Given the description of an element on the screen output the (x, y) to click on. 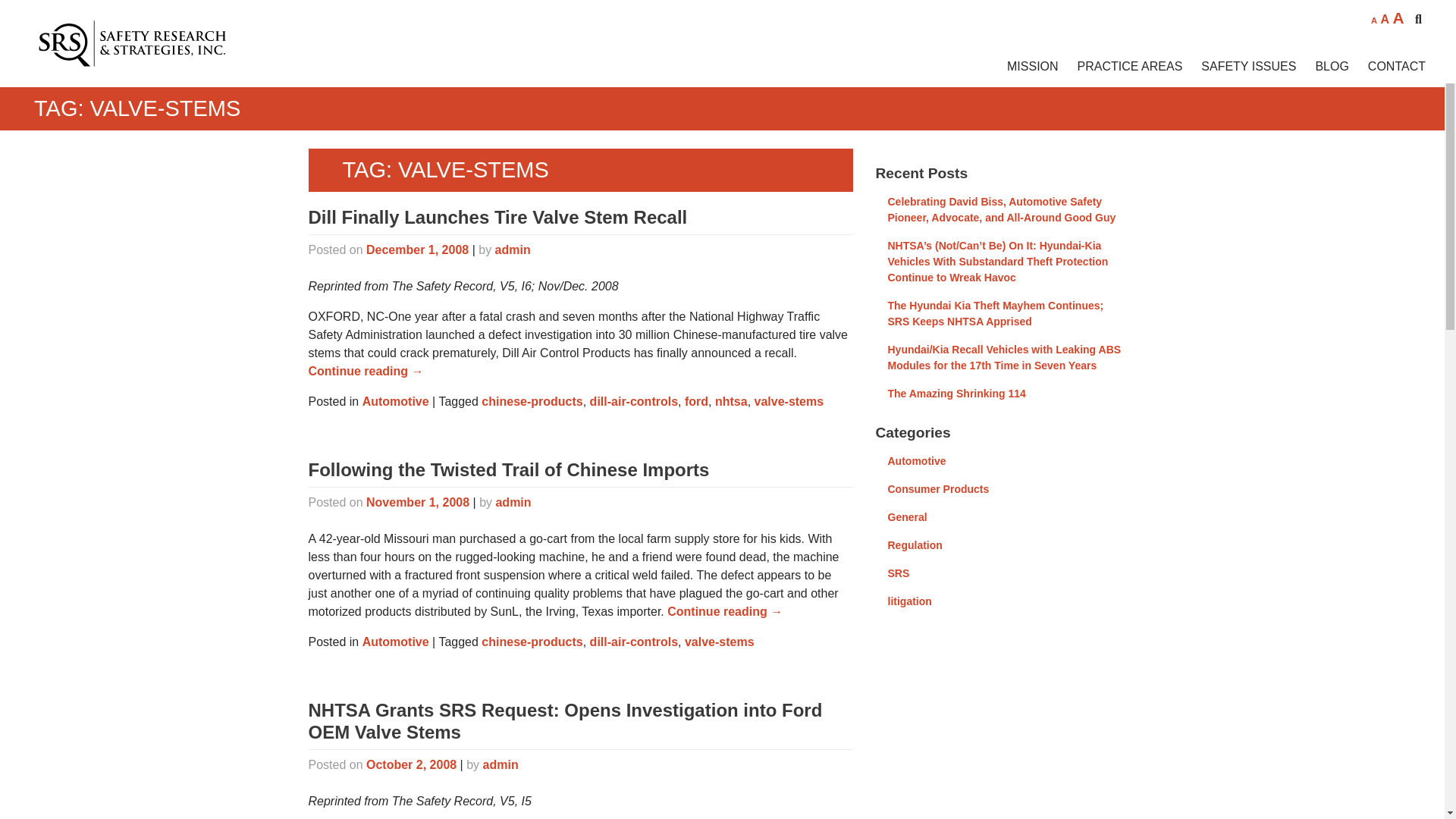
SAFETY ISSUES (1238, 66)
valve-stems (789, 400)
CONTACT (1387, 66)
ford (695, 400)
Dill Finally Launches Tire Valve Stem Recall (497, 217)
PRACTICE AREAS (1120, 66)
chinese-products (531, 400)
admin (513, 249)
Following the Twisted Trail of Chinese Imports (508, 469)
MISSION (1023, 66)
